Given the description of an element on the screen output the (x, y) to click on. 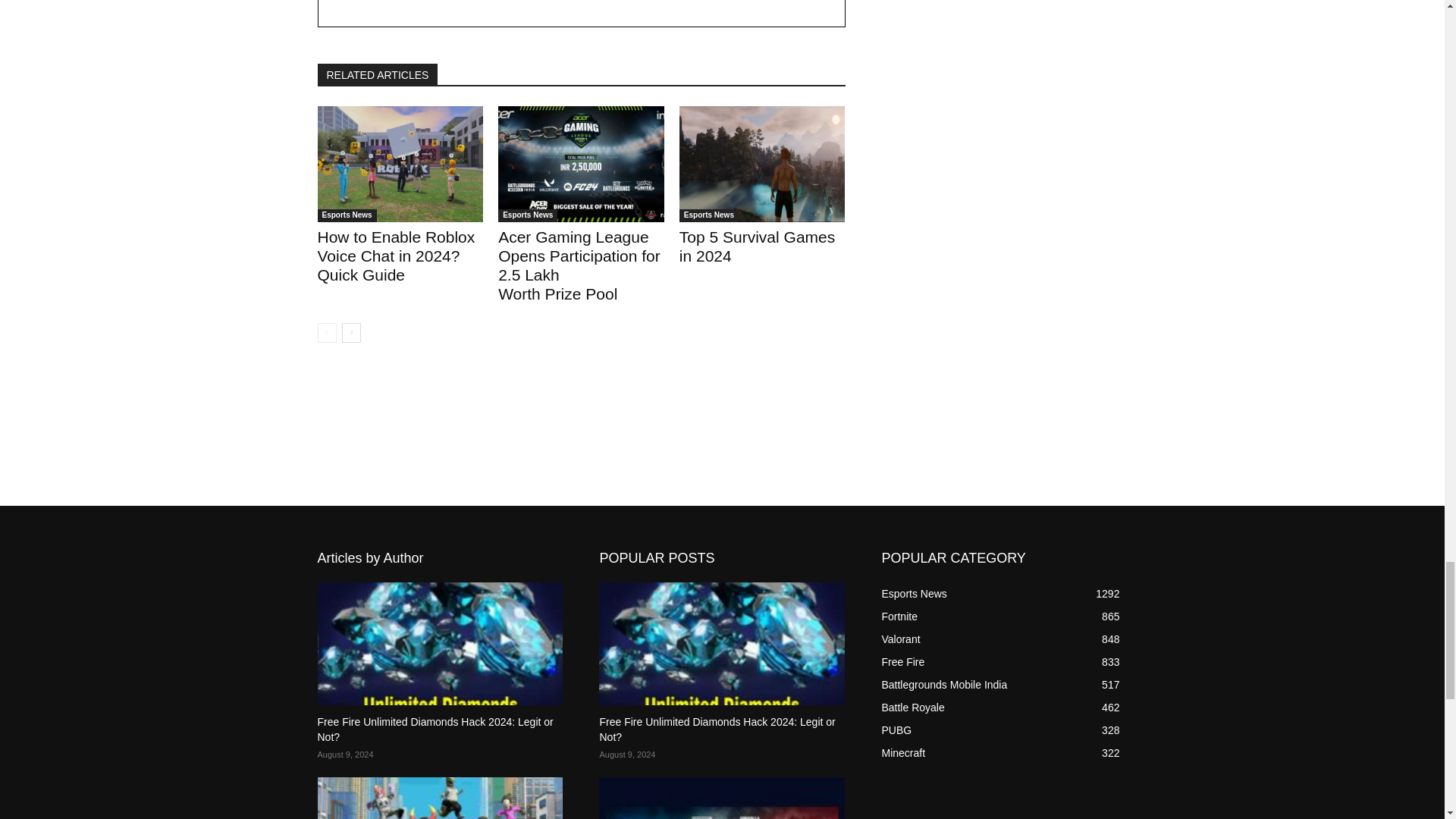
How to Enable Roblox Voice Chat in 2024? Quick Guide (395, 255)
Poongodi Prabakar (377, 5)
Top 5 Survival Games in 2024 (762, 163)
How to Enable Roblox Voice Chat in 2024? Quick Guide (400, 163)
